Given the description of an element on the screen output the (x, y) to click on. 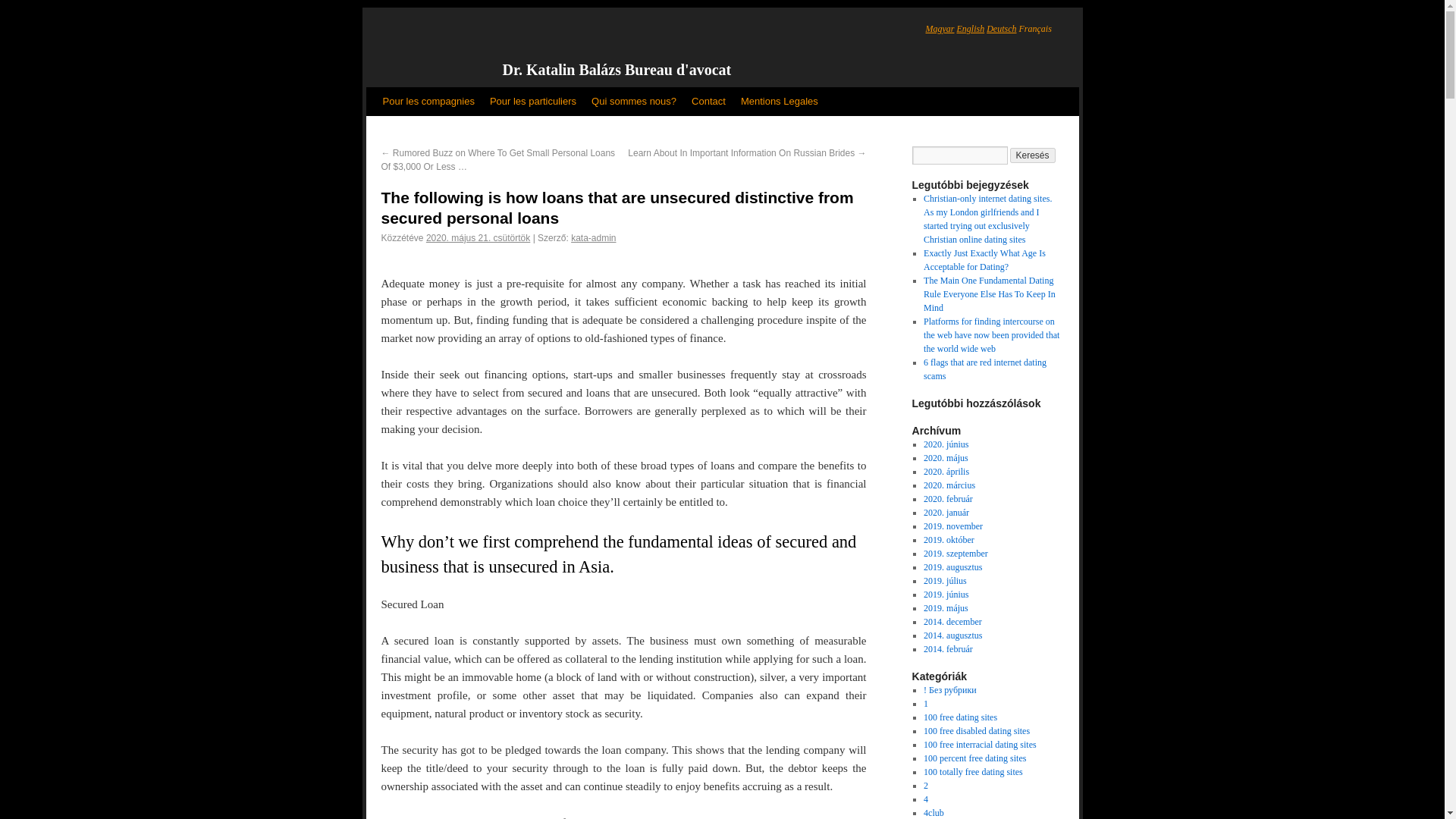
Contact (708, 101)
Pour les compagnies (427, 101)
14:37 (477, 237)
English (970, 28)
Qui sommes nous? (633, 101)
Magyar (938, 28)
kata-admin (592, 237)
Mentions Legales (779, 101)
Pour les particuliers (532, 101)
Deutsch (1001, 28)
